Given the description of an element on the screen output the (x, y) to click on. 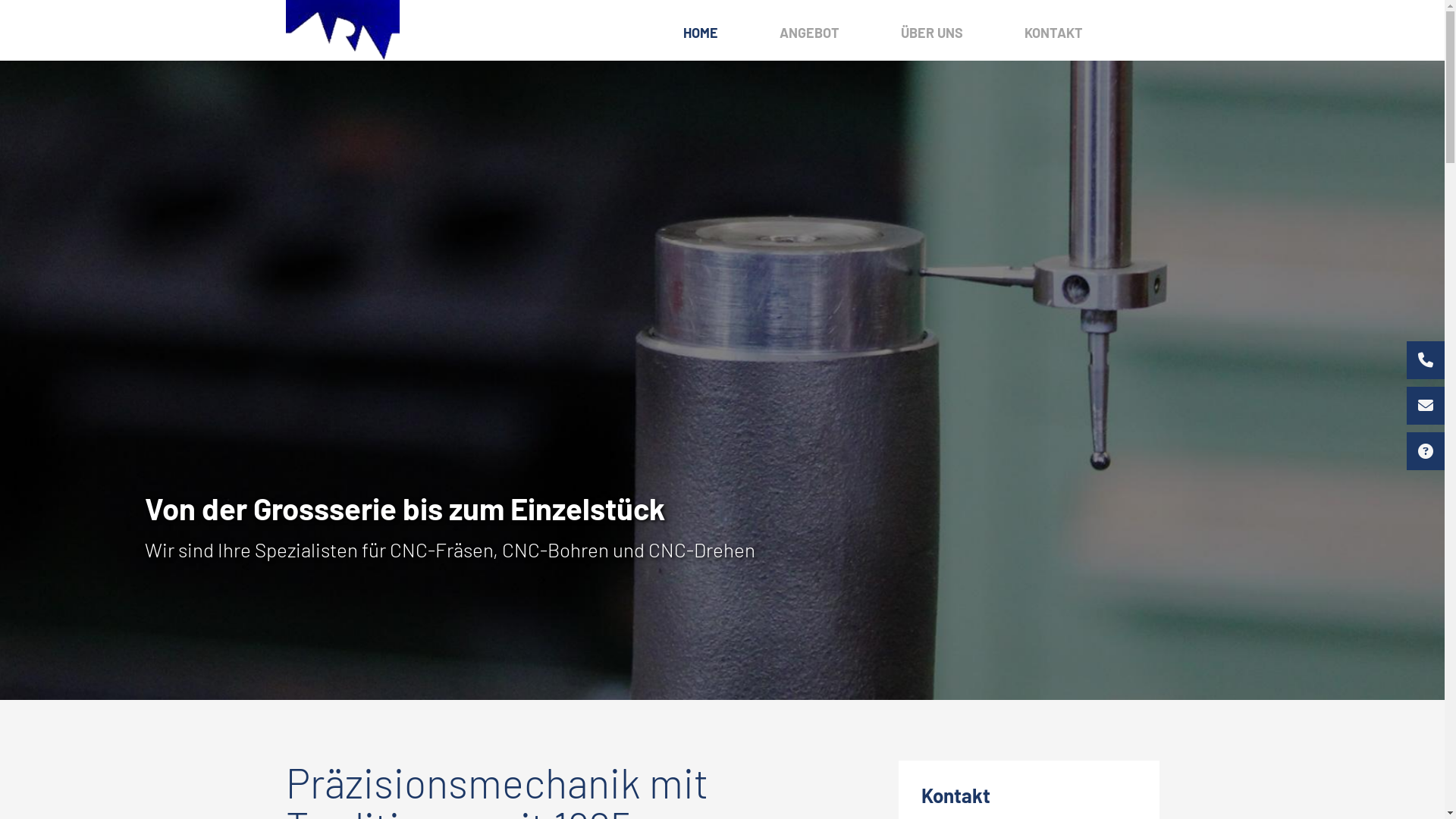
ANGEBOT Element type: text (809, 32)
KONTAKT Element type: text (1052, 32)
HOME Element type: text (699, 32)
